Given the description of an element on the screen output the (x, y) to click on. 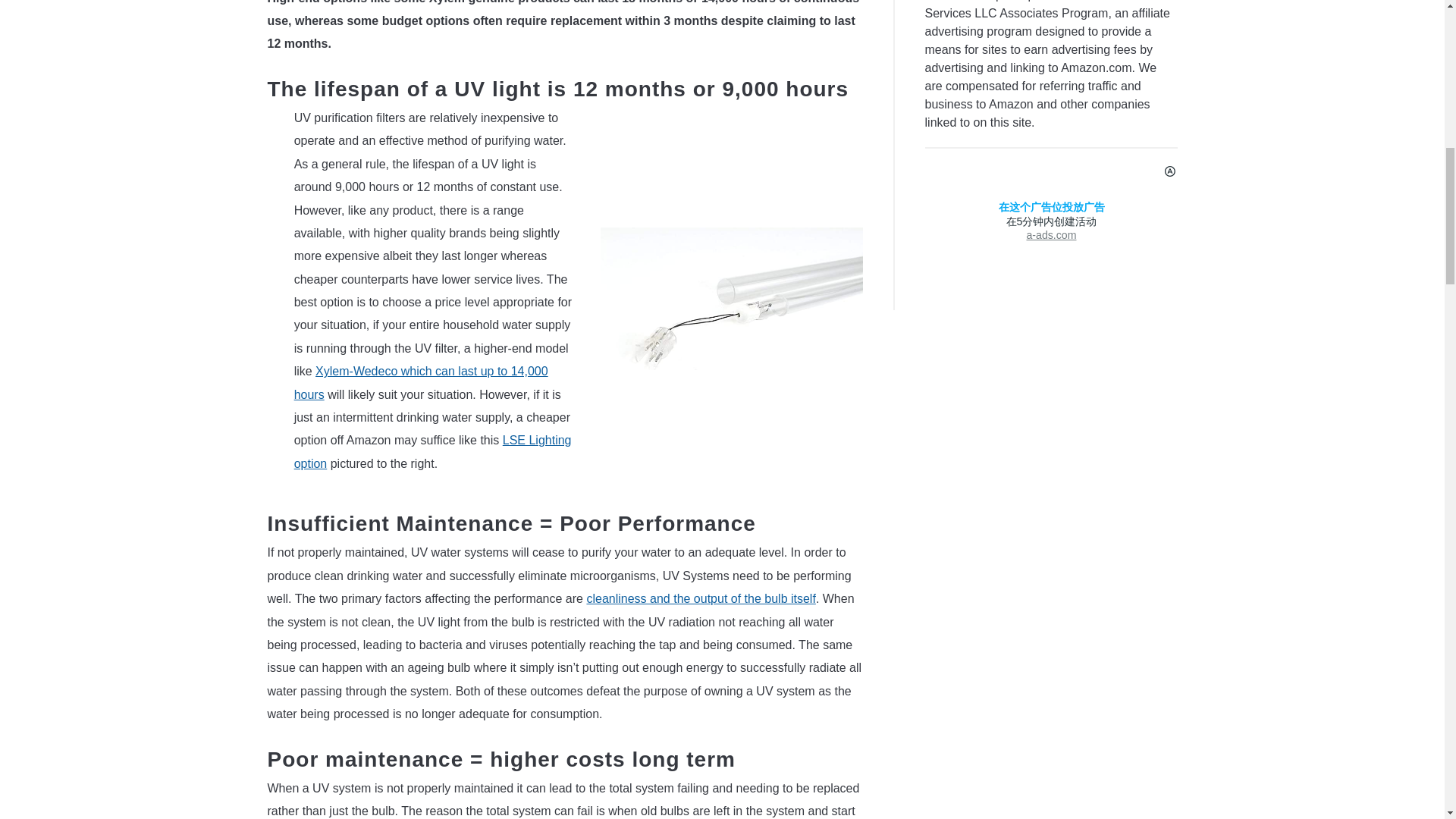
cleanliness and the output of the bulb itself (700, 598)
Xylem-Wedeco which can last up to 14,000 hours (421, 382)
LSE Lighting option (433, 451)
